Given the description of an element on the screen output the (x, y) to click on. 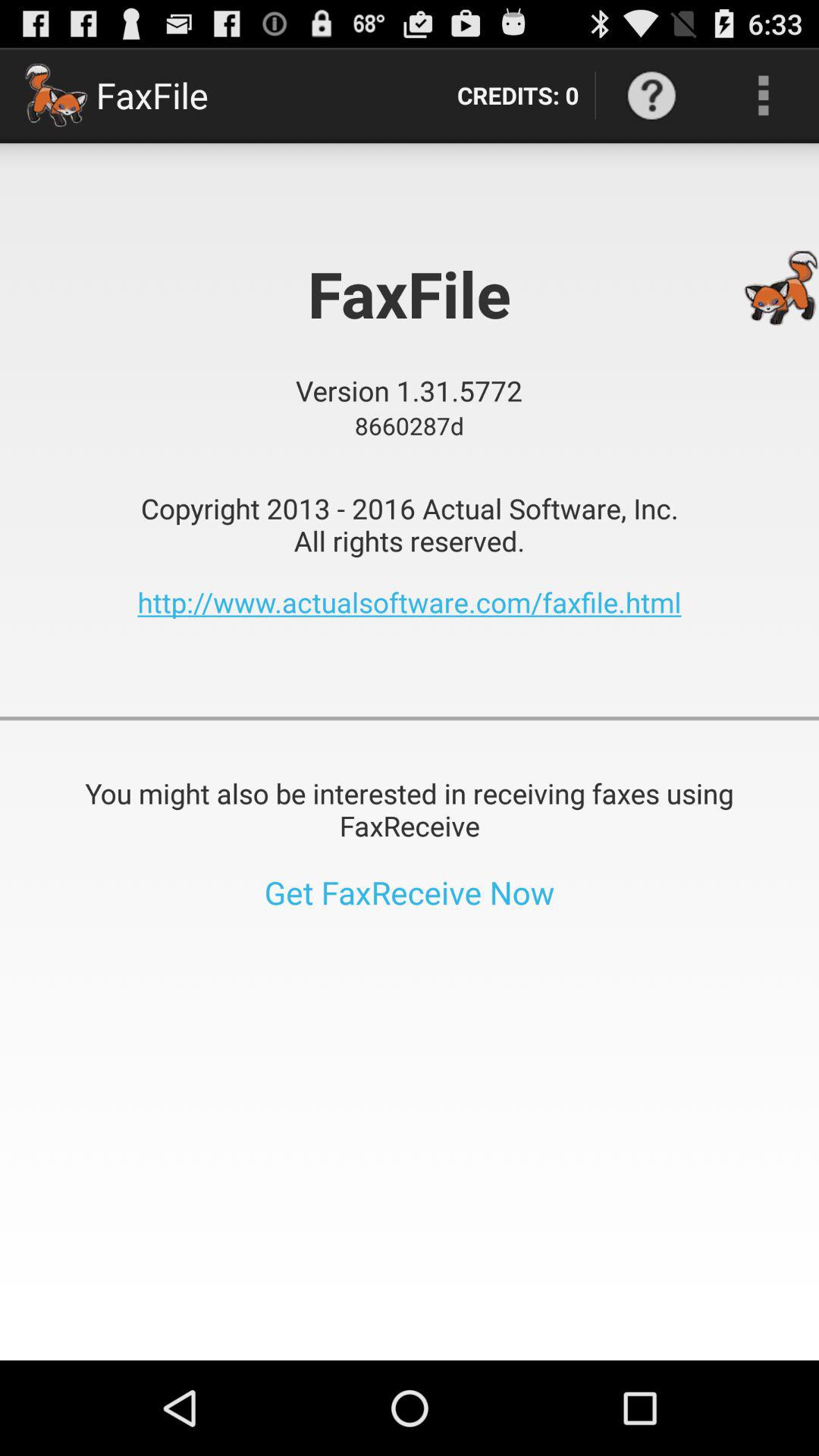
open the icon above faxfile item (517, 95)
